Given the description of an element on the screen output the (x, y) to click on. 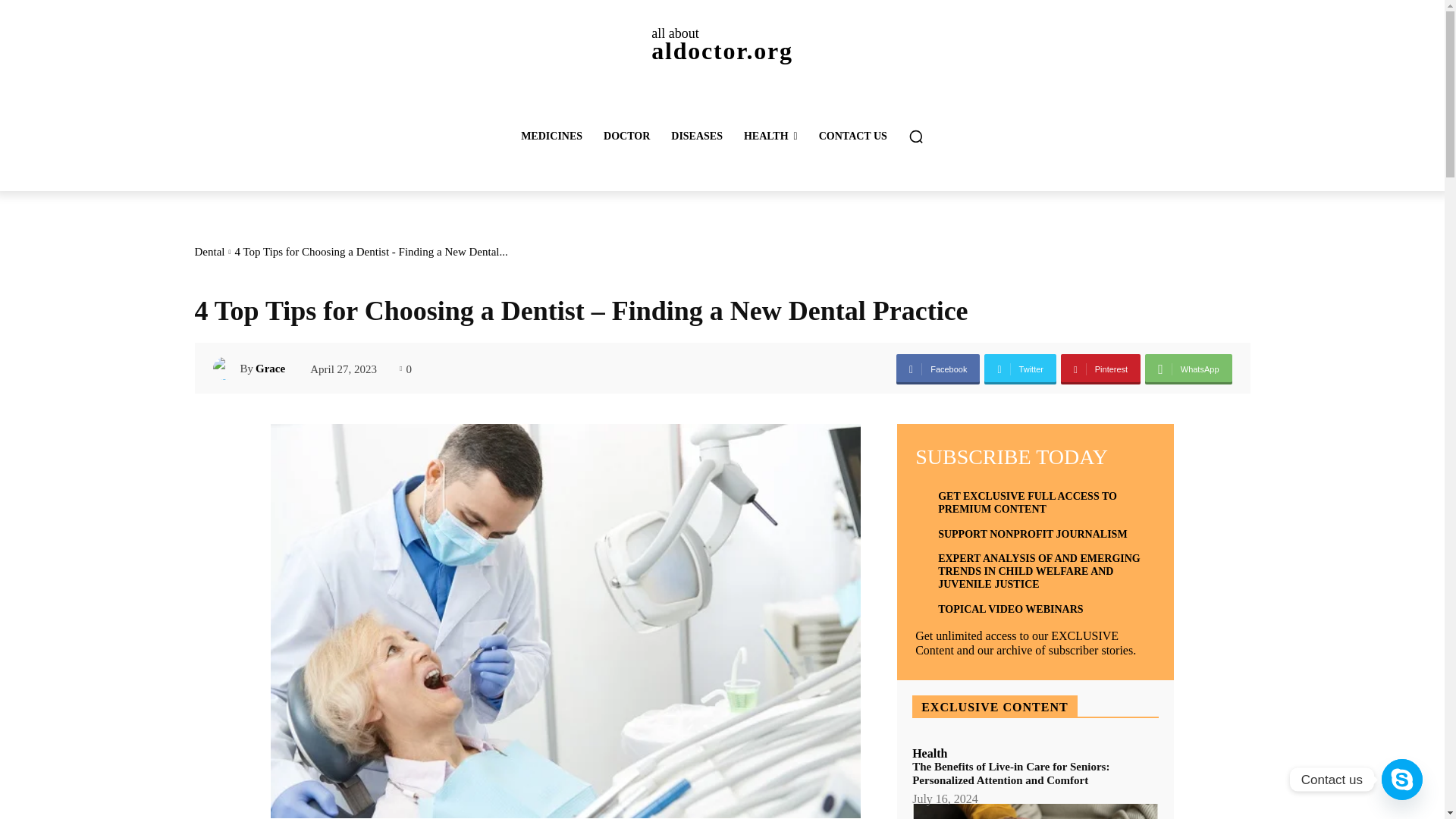
Pinterest (1100, 368)
CONTACT US (853, 135)
Twitter (1020, 368)
Facebook (937, 368)
DOCTOR (626, 135)
WhatsApp (1187, 368)
MEDICINES (551, 135)
HEALTH (770, 135)
Grace (226, 368)
View all posts in Dental (208, 251)
DISEASES (721, 44)
